Given the description of an element on the screen output the (x, y) to click on. 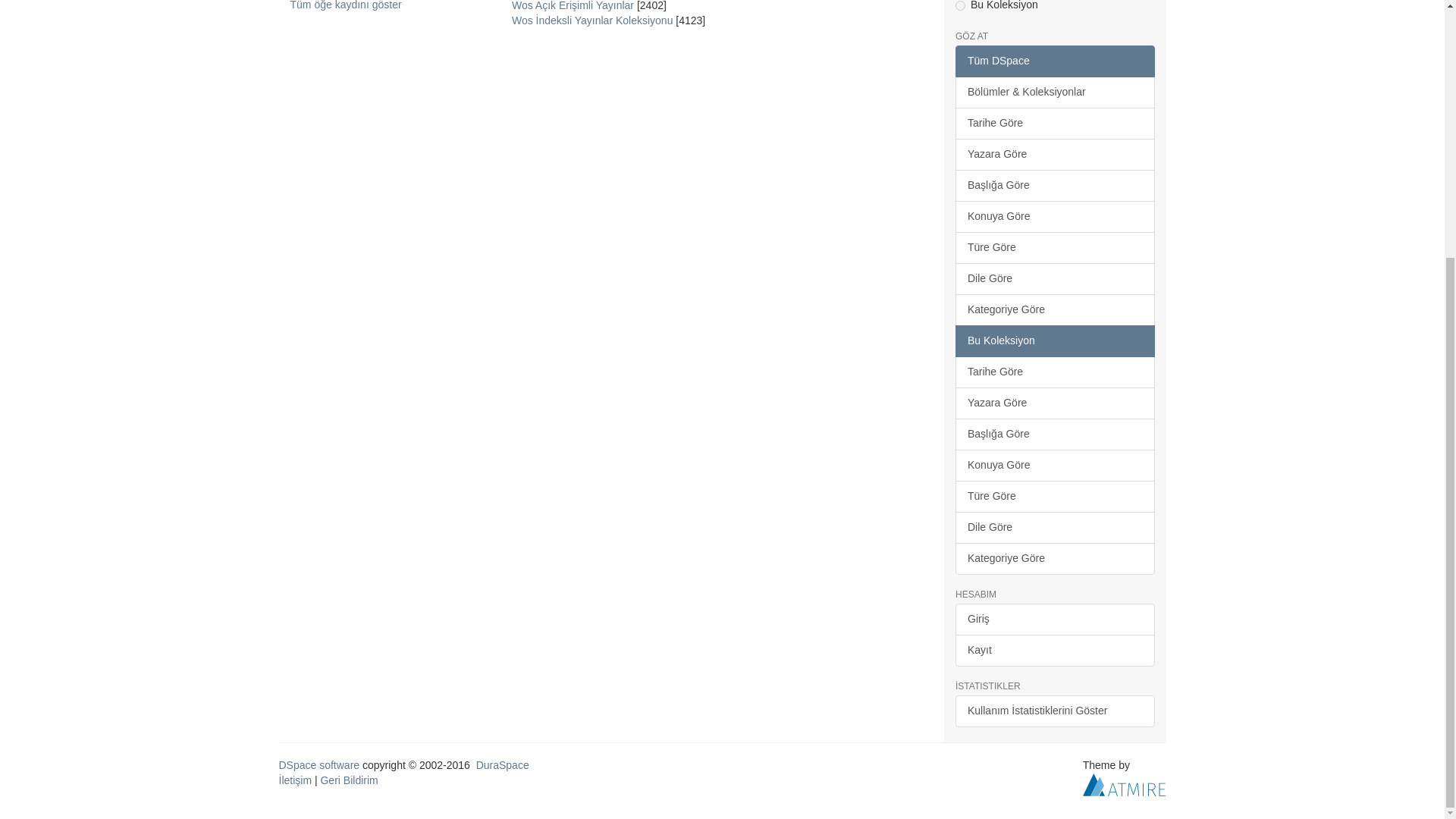
Atmire NV (1124, 784)
